Given the description of an element on the screen output the (x, y) to click on. 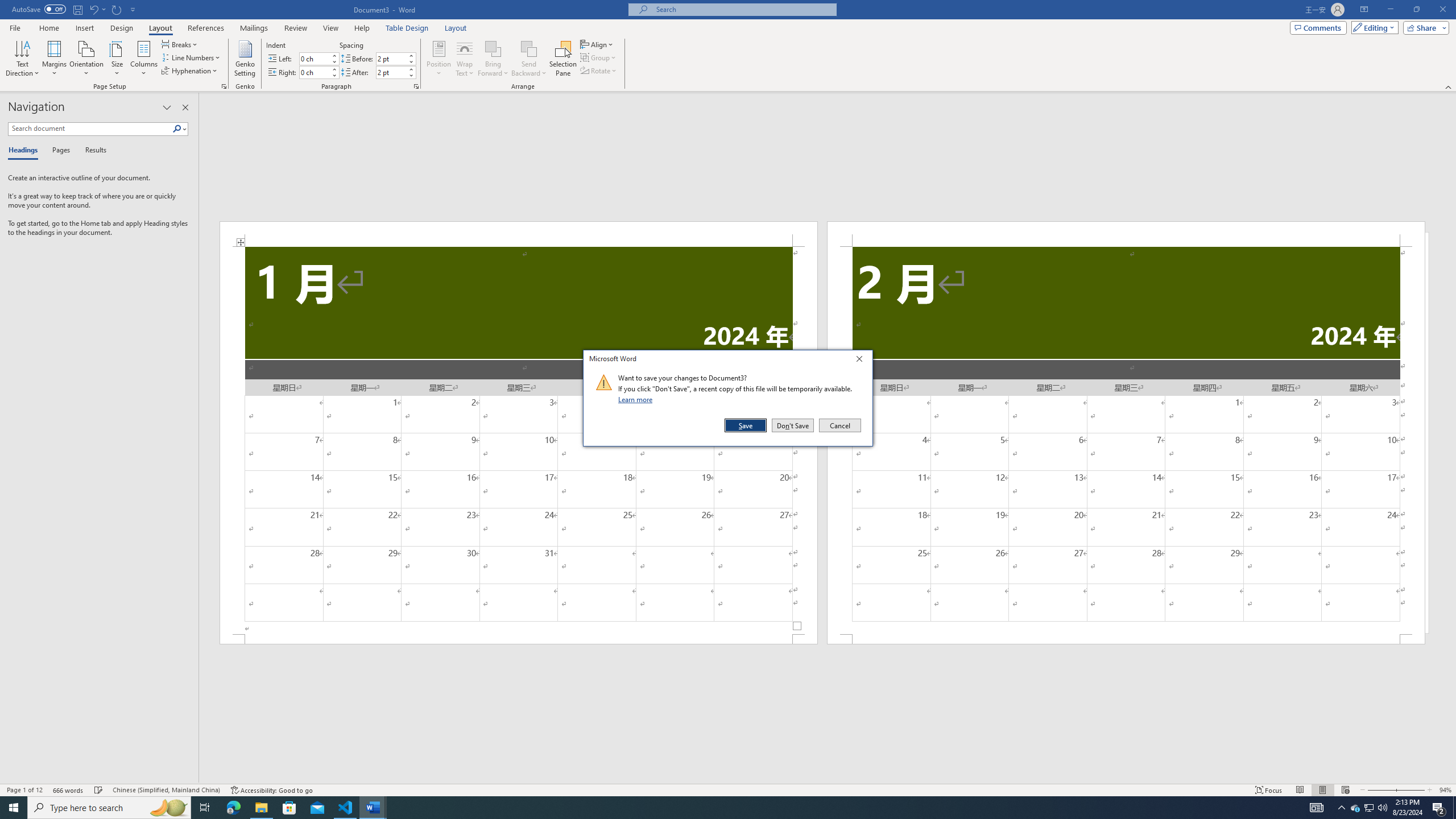
Q2790: 100% (1382, 807)
Collapse the Ribbon (1448, 86)
Paragraph... (416, 85)
Class: NetUIImage (603, 382)
AutoSave (38, 9)
Send Backward (528, 48)
Send Backward (528, 58)
Header -Section 2- (1126, 233)
Language Chinese (Simplified, Mainland China) (165, 790)
Running applications (717, 807)
Footer -Section 2- (1126, 638)
Task View (204, 807)
